Given the description of an element on the screen output the (x, y) to click on. 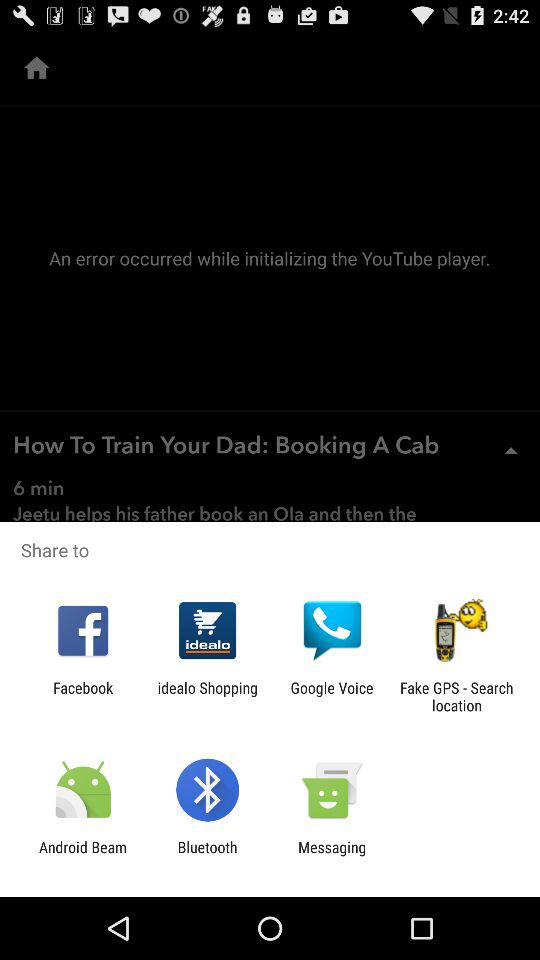
swipe until android beam item (83, 856)
